Given the description of an element on the screen output the (x, y) to click on. 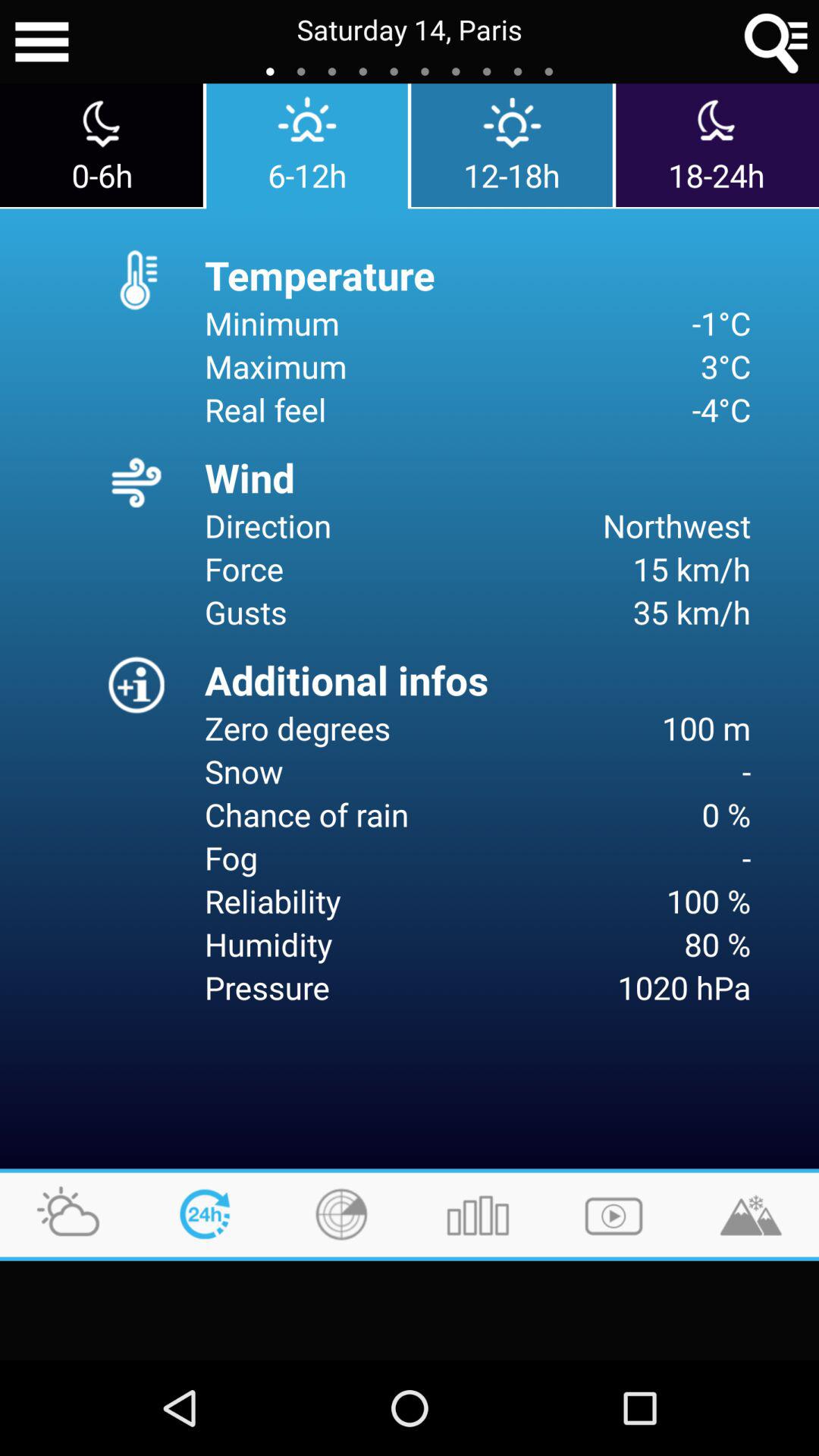
open the icon to the right of 12-18h icon (717, 145)
